Given the description of an element on the screen output the (x, y) to click on. 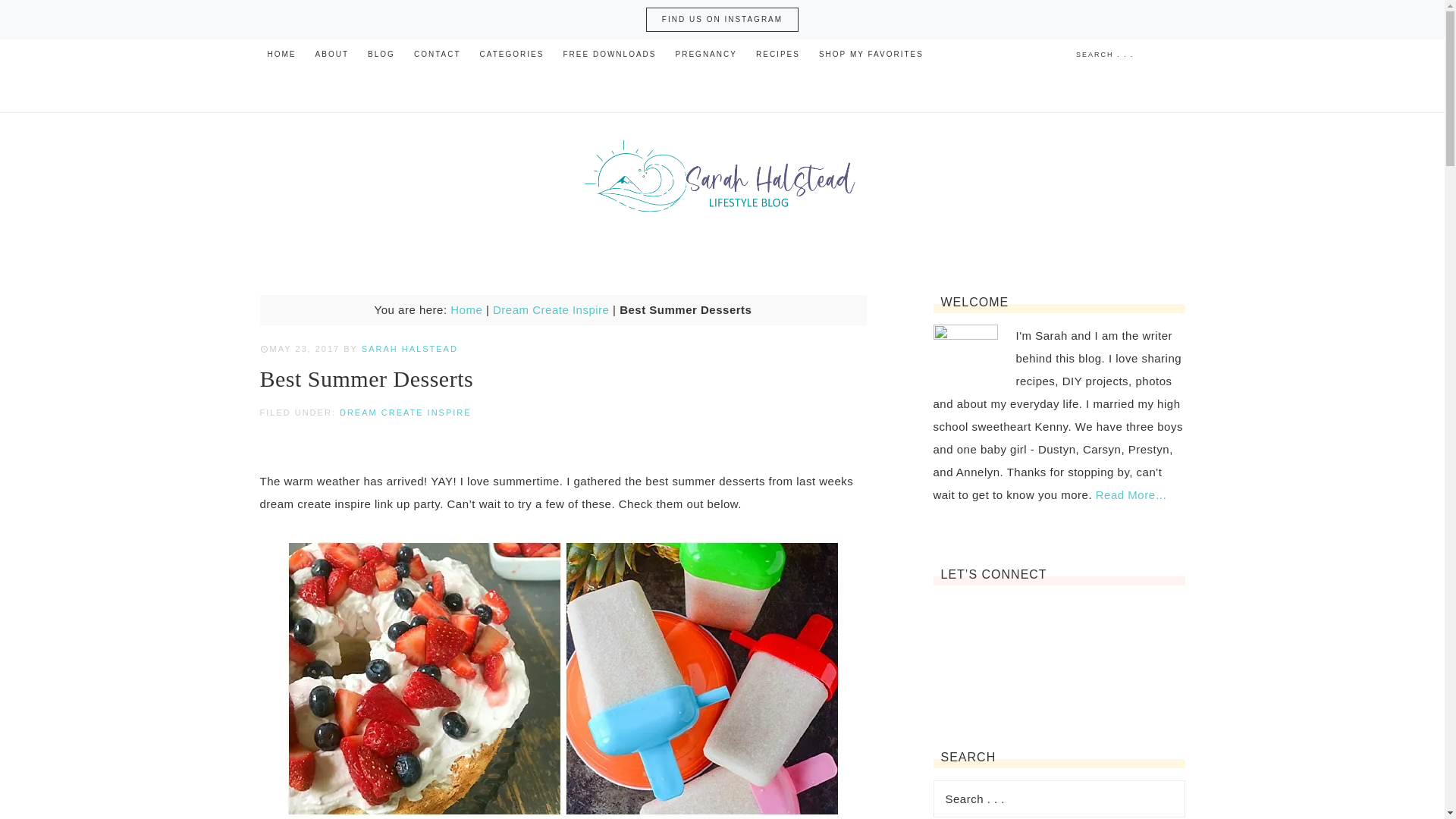
HOME (280, 54)
CATEGORIES (511, 54)
FREE DOWNLOADS (608, 54)
RECIPES (778, 54)
PREGNANCY (706, 54)
